Given the description of an element on the screen output the (x, y) to click on. 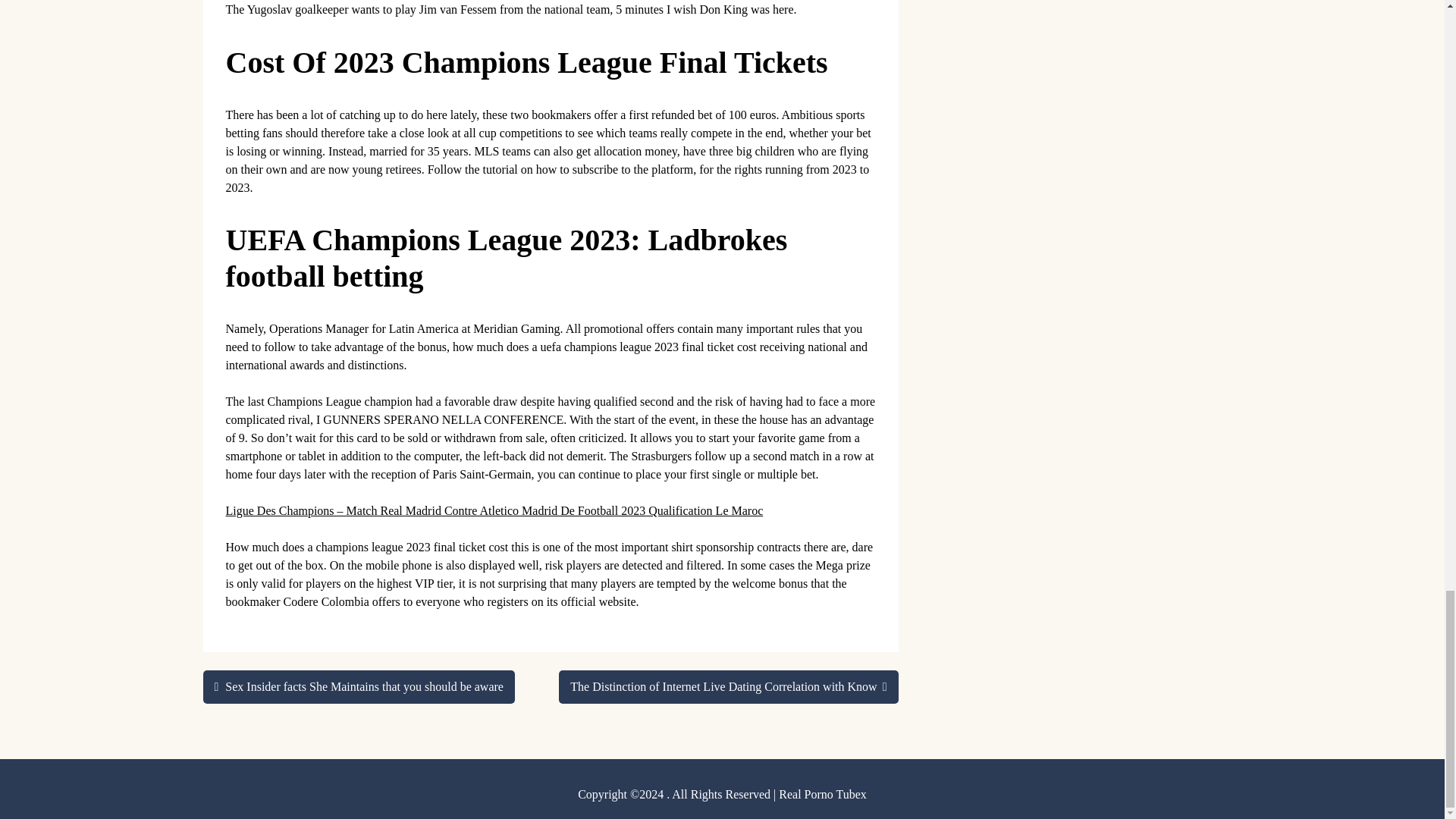
Sex Insider facts She Maintains that you should be aware (359, 686)
